Given the description of an element on the screen output the (x, y) to click on. 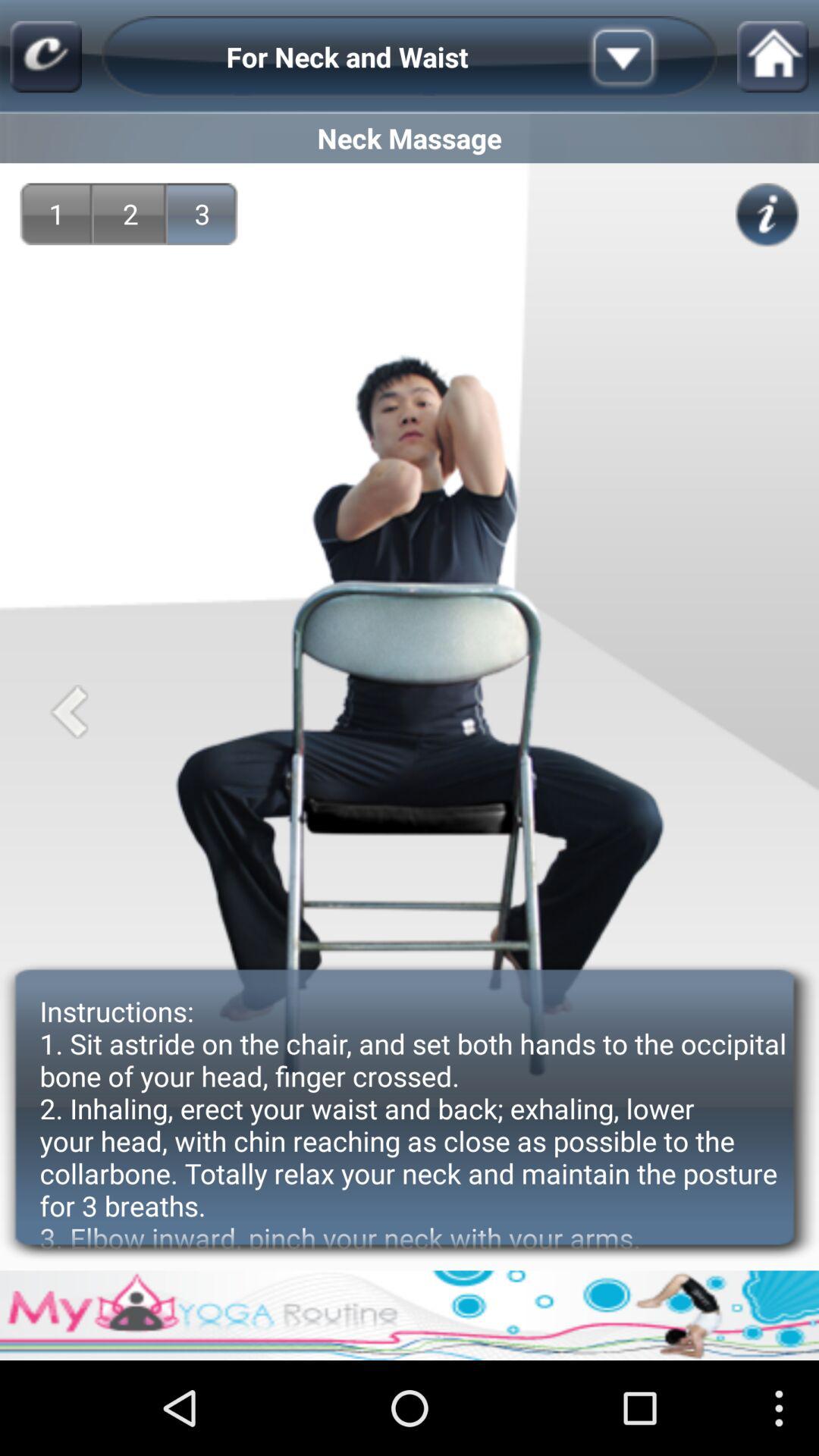
drop down menu (646, 56)
